Given the description of an element on the screen output the (x, y) to click on. 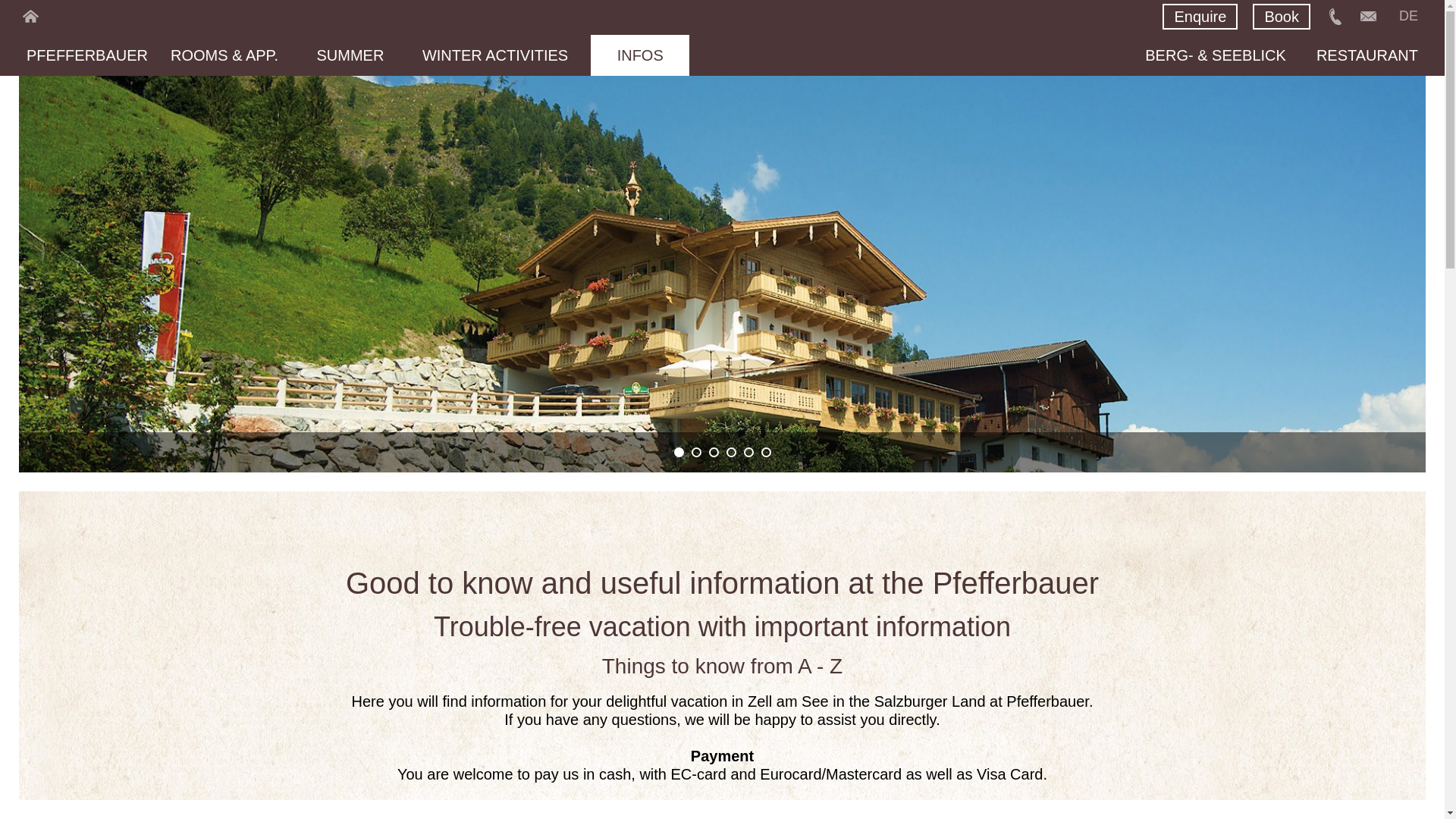
DE (1408, 15)
Pfefferbauer (87, 54)
SUMMER (349, 54)
PFEFFERBAUER (87, 54)
Summer (349, 54)
Winter activities (494, 54)
WINTER ACTIVITIES (494, 54)
INFOS (640, 54)
Enquire (1199, 16)
Infos (640, 54)
RESTAURANT (1367, 54)
Book (1281, 16)
